Given the description of an element on the screen output the (x, y) to click on. 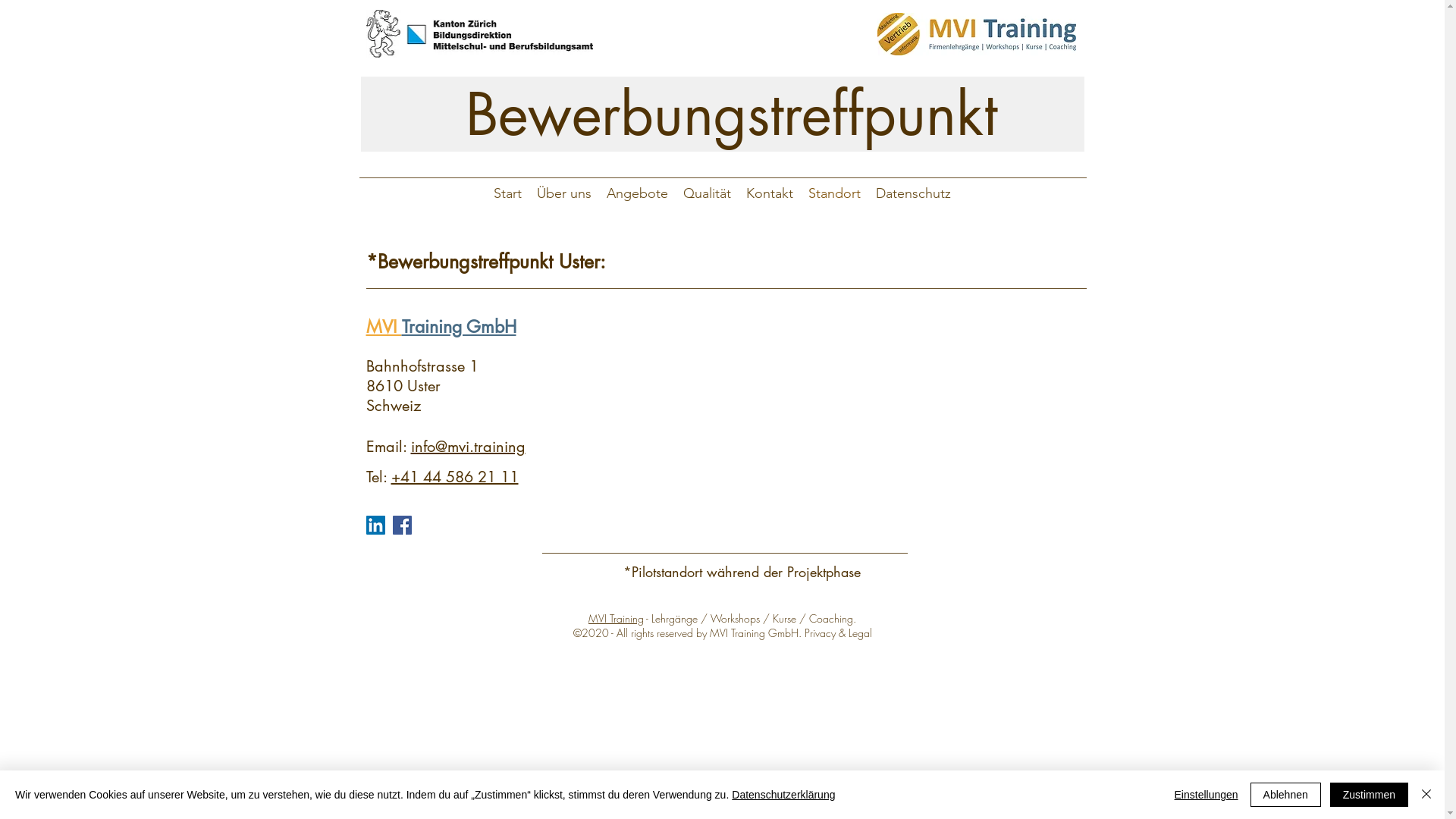
Ablehnen Element type: text (1285, 794)
MVI Training GmbH Element type: text (440, 326)
MVI Training Element type: text (615, 618)
      Bewerbungstreffpunkt      Element type: text (722, 113)
Standort Element type: text (834, 193)
info@mvi.training Element type: text (468, 446)
Start Element type: text (507, 193)
Google Maps Element type: hover (845, 410)
Kontakt Element type: text (769, 193)
+41 44 586 21 11 Element type: text (454, 476)
Link zu MVI Training Element type: hover (976, 33)
Zustimmen Element type: text (1369, 794)
Datenschutz Element type: text (913, 193)
Angebote Element type: text (637, 193)
